Given the description of an element on the screen output the (x, y) to click on. 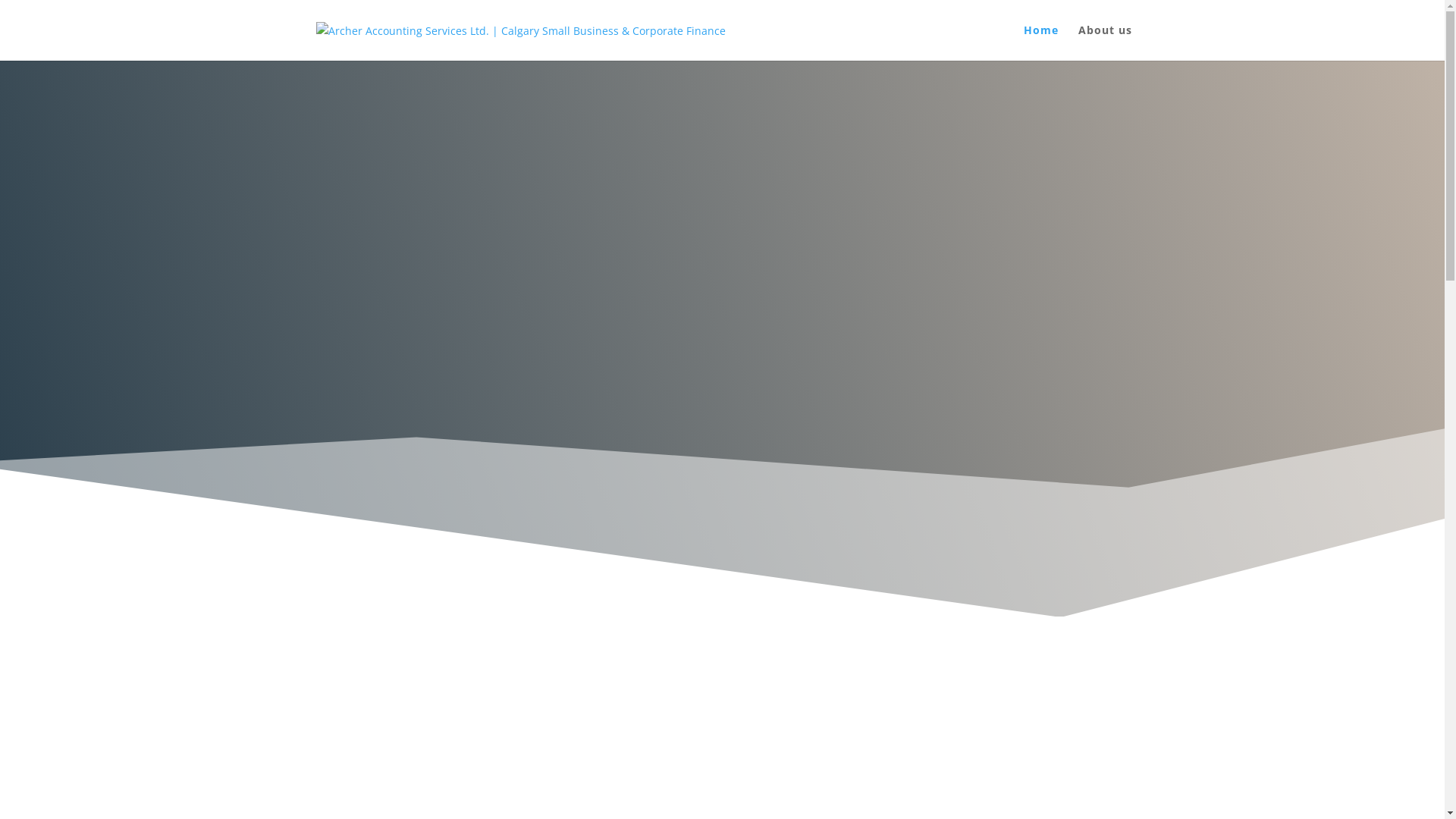
About us Element type: text (1105, 42)
Home Element type: text (1040, 42)
